Given the description of an element on the screen output the (x, y) to click on. 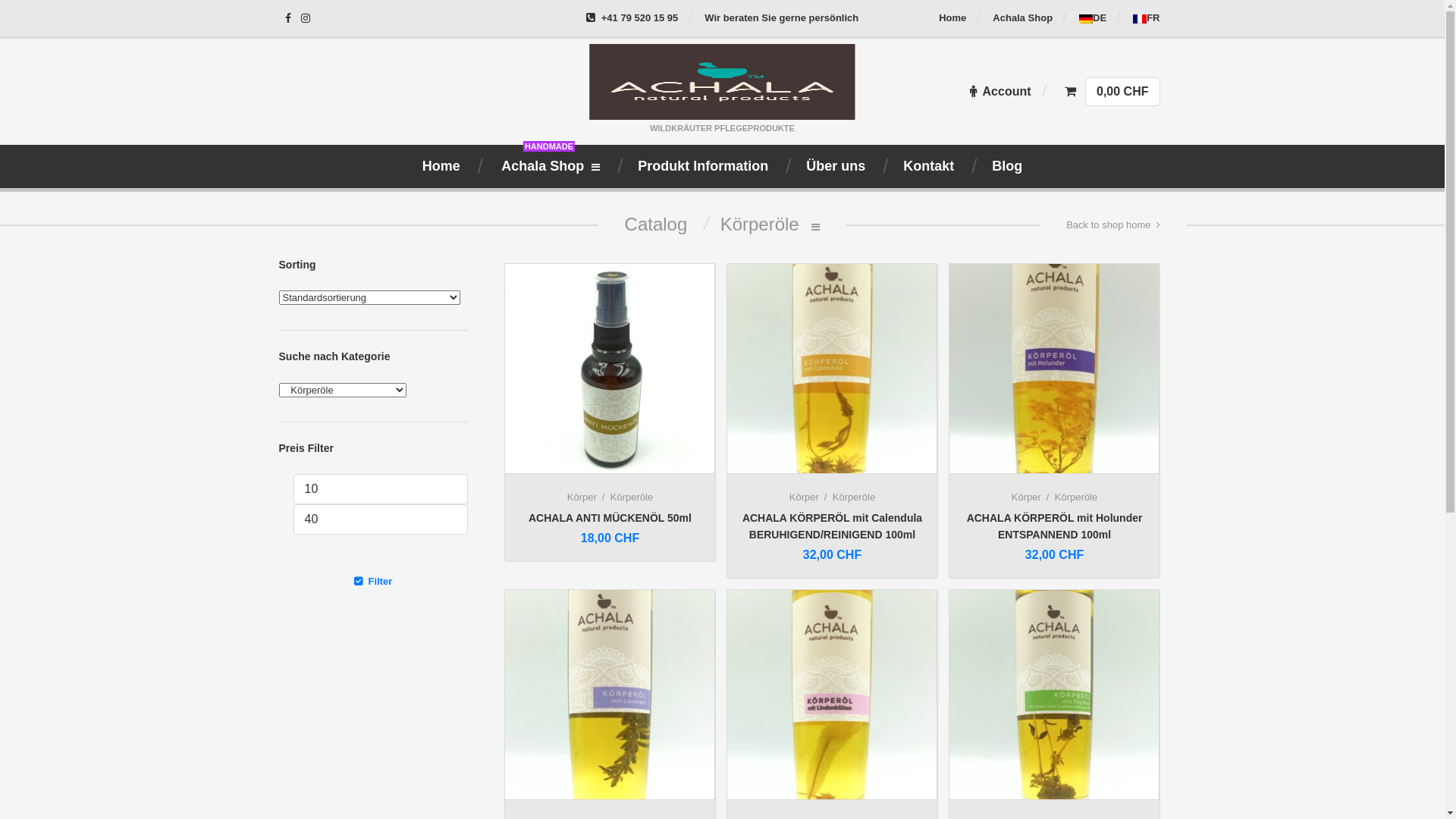
Filter Element type: text (373, 581)
DE Element type: text (1092, 17)
Achala Shop Element type: text (1022, 17)
HANDMADE
 Achala Shop Element type: text (548, 165)
Blog Element type: text (1006, 165)
Home Element type: text (952, 17)
Kontakt Element type: text (928, 165)
0,00 CHF Element type: text (1111, 90)
Back to shop home Element type: text (1112, 224)
French Element type: hover (1139, 18)
German Element type: hover (1085, 18)
Produkt Information Element type: text (702, 165)
Account Element type: text (1000, 90)
Home Element type: text (441, 165)
FR Element type: text (1145, 17)
